Given the description of an element on the screen output the (x, y) to click on. 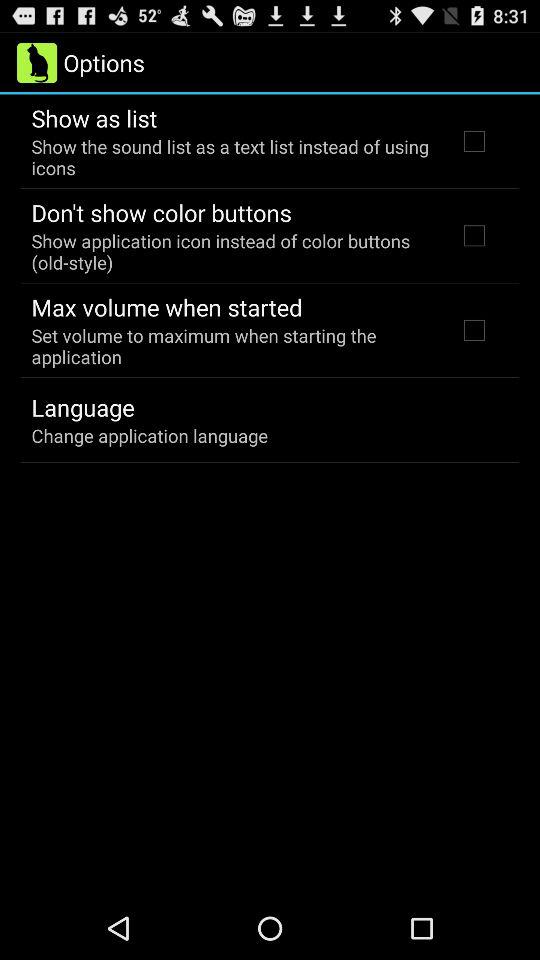
scroll to the set volume to item (231, 346)
